Given the description of an element on the screen output the (x, y) to click on. 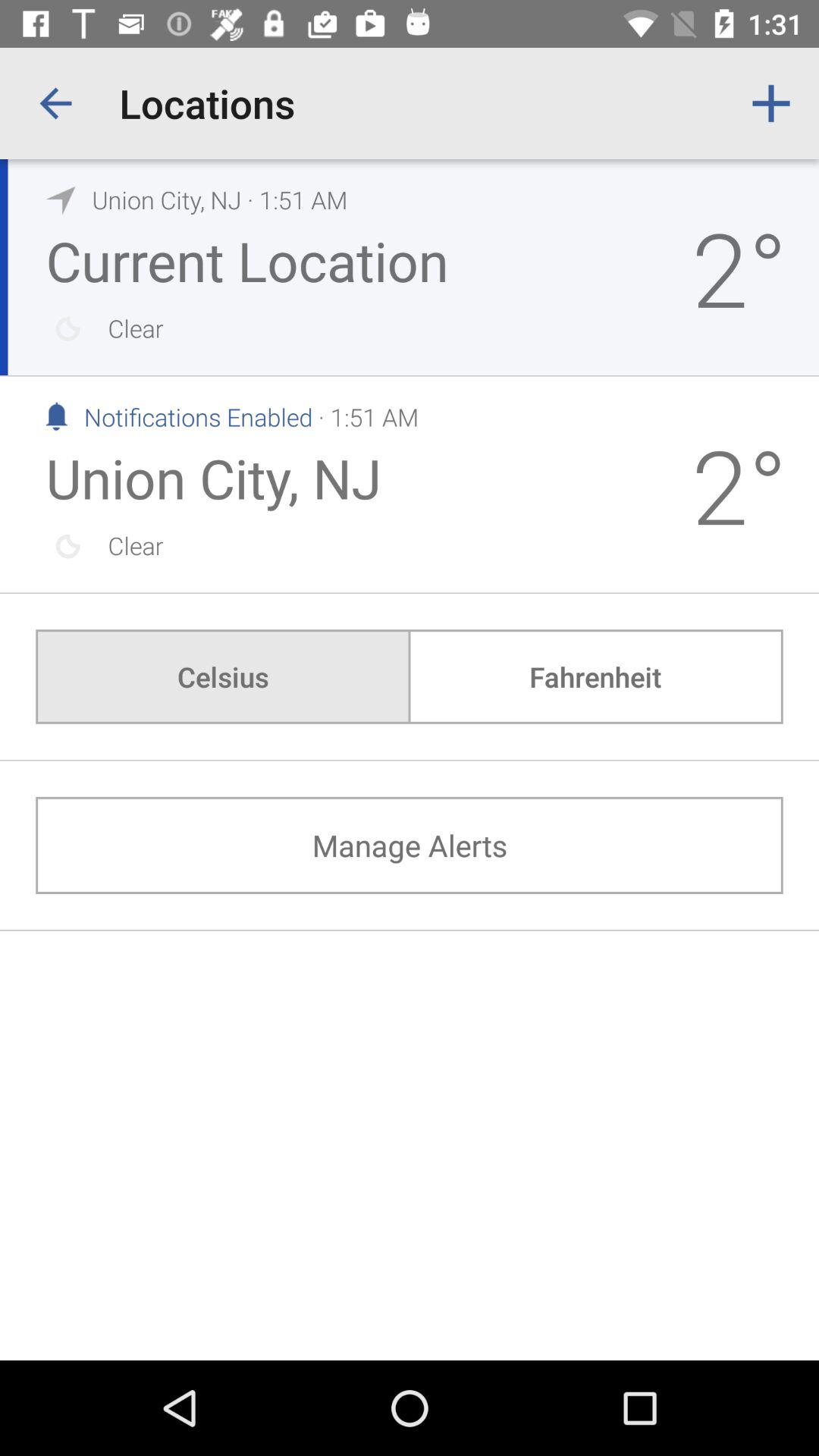
press the icon to the left of locations icon (55, 103)
